Given the description of an element on the screen output the (x, y) to click on. 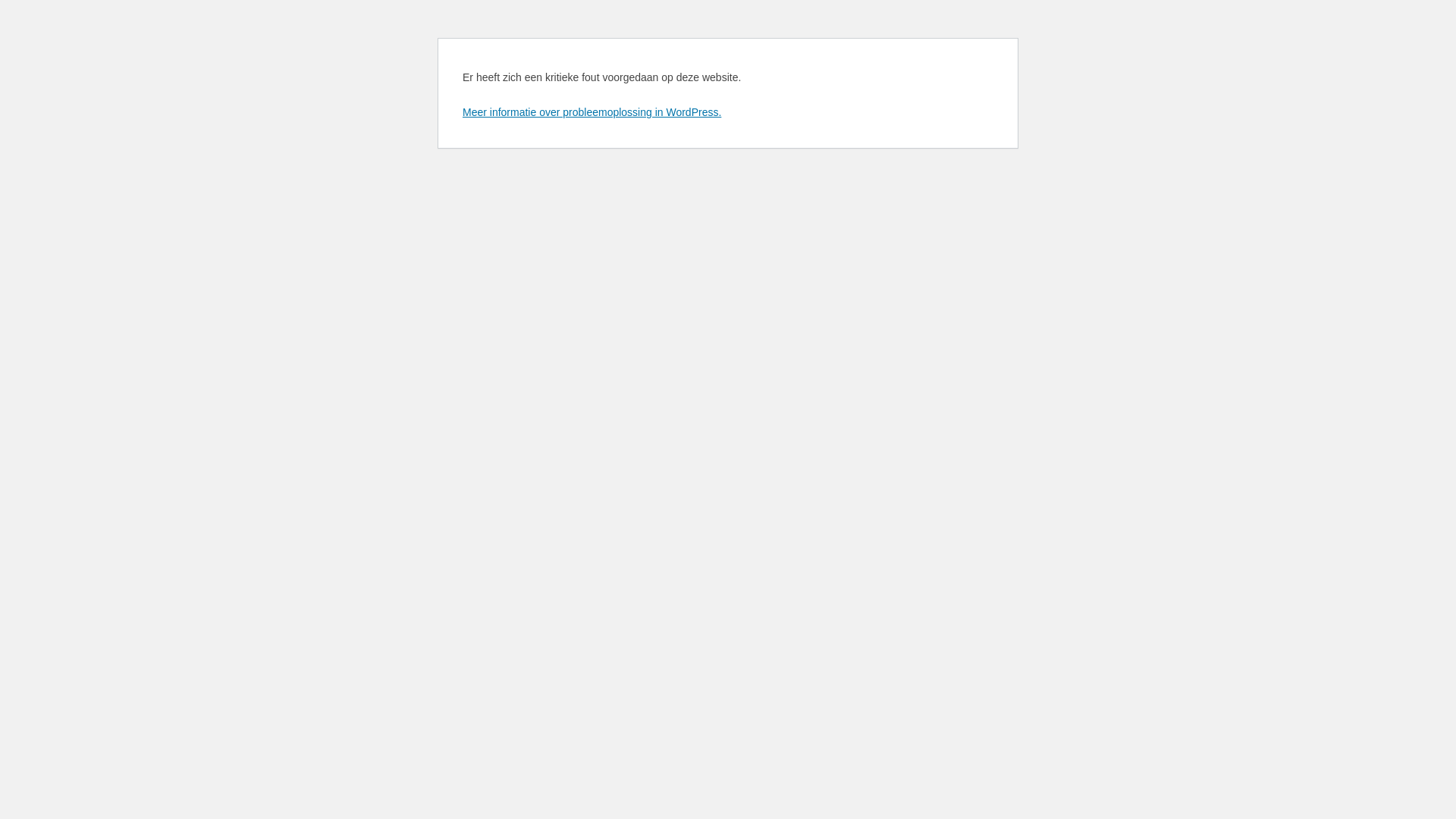
Meer informatie over probleemoplossing in WordPress. Element type: text (591, 112)
